Given the description of an element on the screen output the (x, y) to click on. 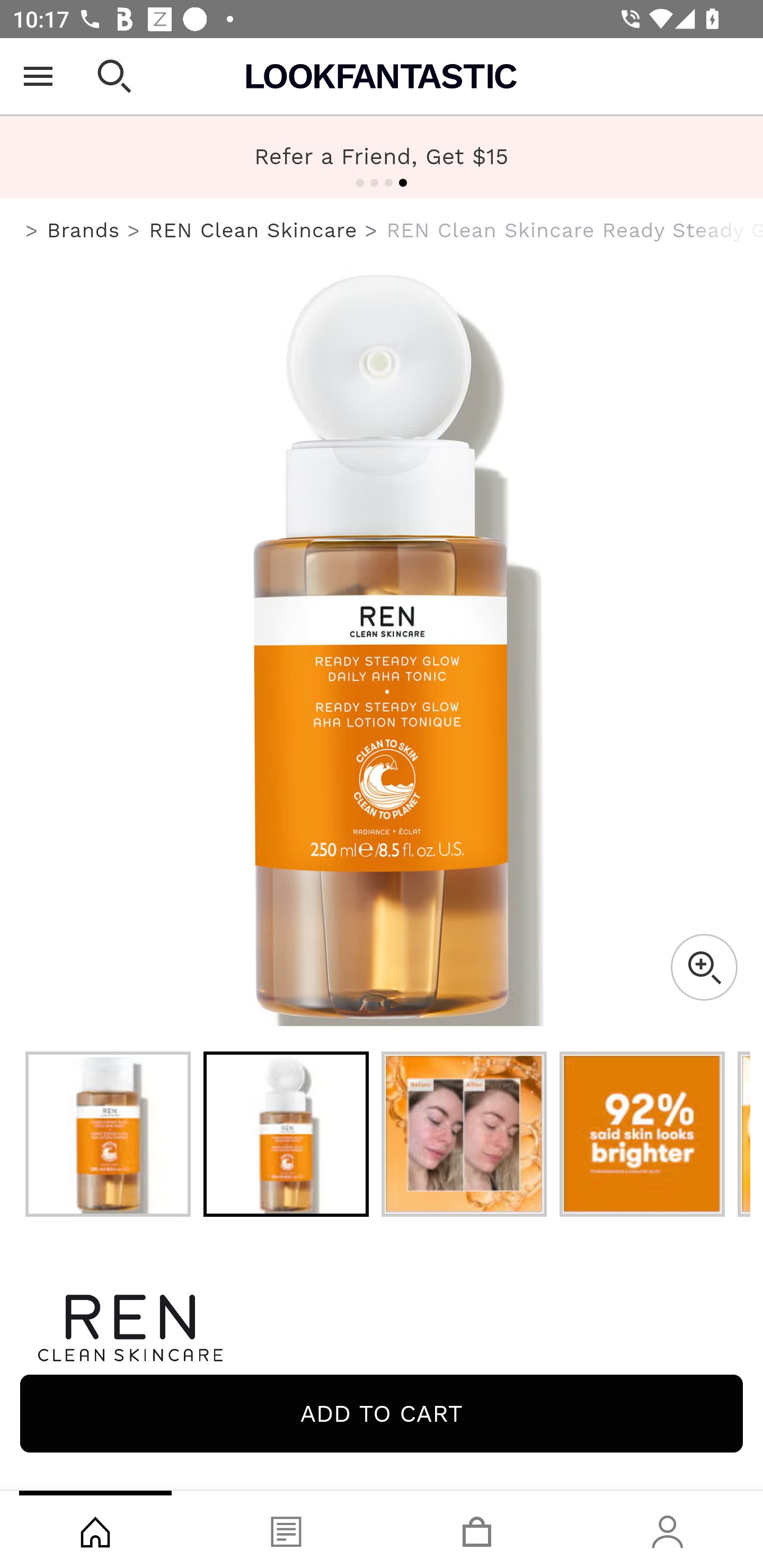
Open Menu (38, 75)
Open search (114, 75)
Lookfantastic USA (381, 75)
us.lookfantastic (32, 230)
Brands (82, 230)
REN Clean Skincare (252, 230)
Zoom (703, 966)
REN Clean Skincare (381, 1327)
Add to cart (381, 1413)
Shop, tab, 1 of 4 (95, 1529)
Blog, tab, 2 of 4 (285, 1529)
Basket, tab, 3 of 4 (476, 1529)
Account, tab, 4 of 4 (667, 1529)
